Given the description of an element on the screen output the (x, y) to click on. 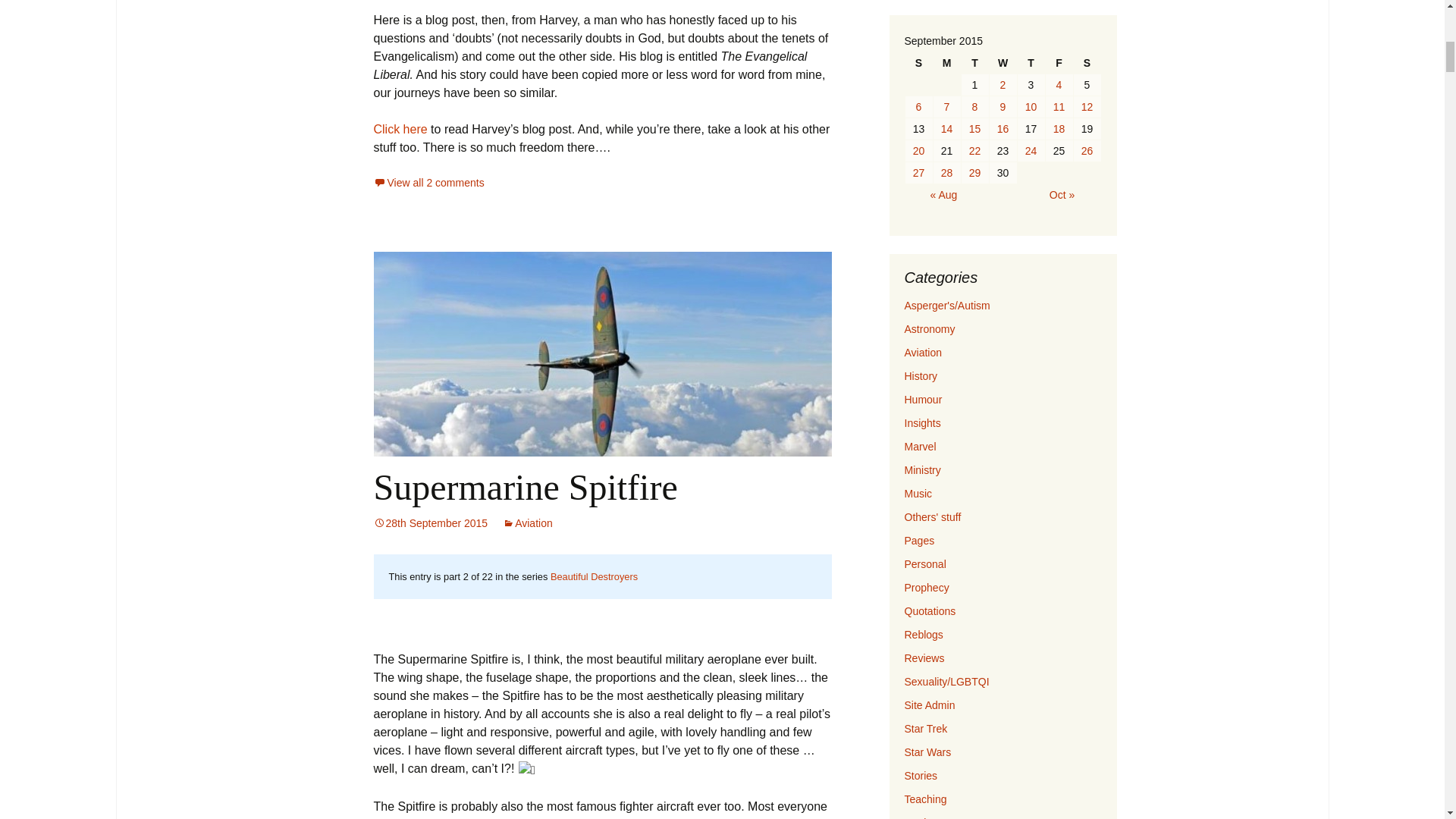
Aviation (527, 522)
Permalink to Supermarine Spitfire (429, 522)
Beautiful Destroyers (593, 576)
View all 2 comments (427, 182)
Click here (399, 128)
Beautiful Destroyers (593, 576)
28th September 2015 (429, 522)
Supermarine Spitfire (524, 486)
